Given the description of an element on the screen output the (x, y) to click on. 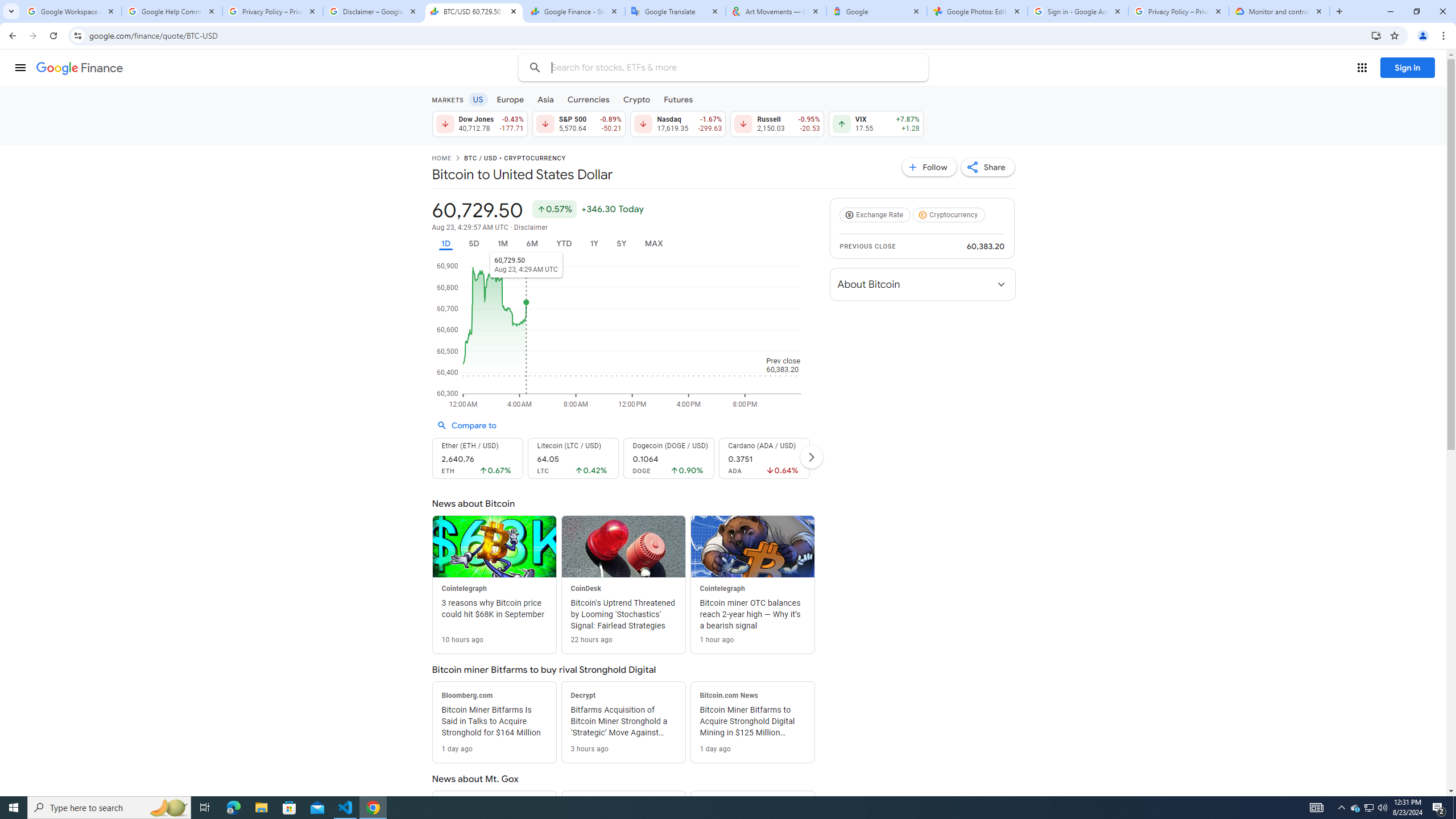
Follow (929, 167)
MAX (653, 243)
Share (987, 167)
Finance (79, 68)
Install Google Finance (1376, 35)
HOME (440, 158)
